Given the description of an element on the screen output the (x, y) to click on. 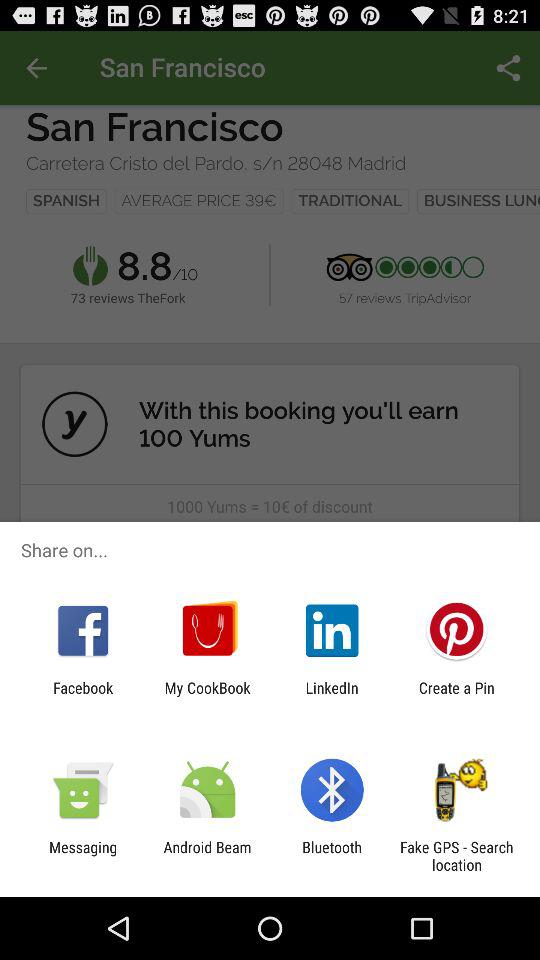
turn on app next to the my cookbook item (331, 696)
